Given the description of an element on the screen output the (x, y) to click on. 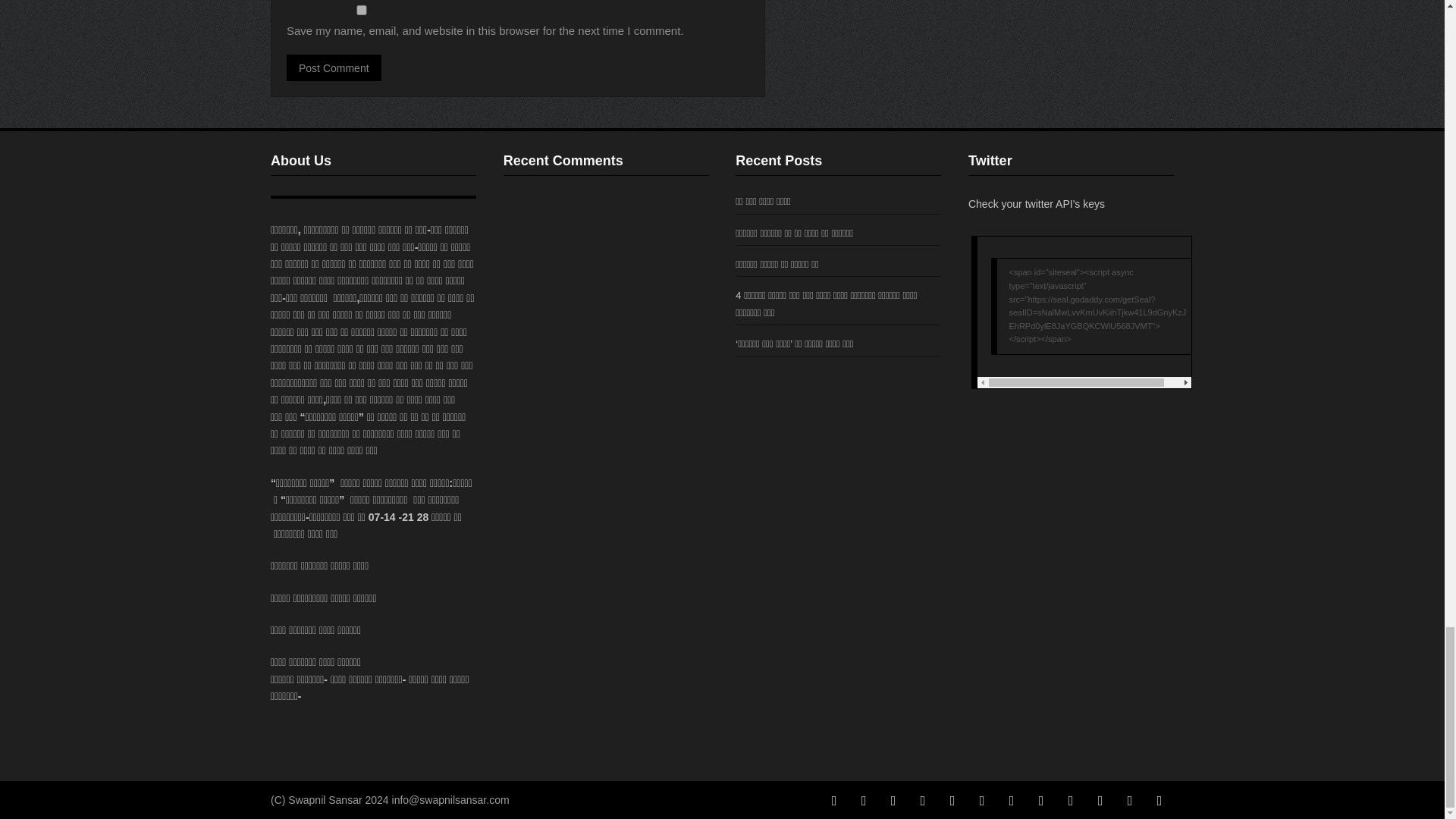
yes (361, 9)
Post Comment (333, 67)
